Given the description of an element on the screen output the (x, y) to click on. 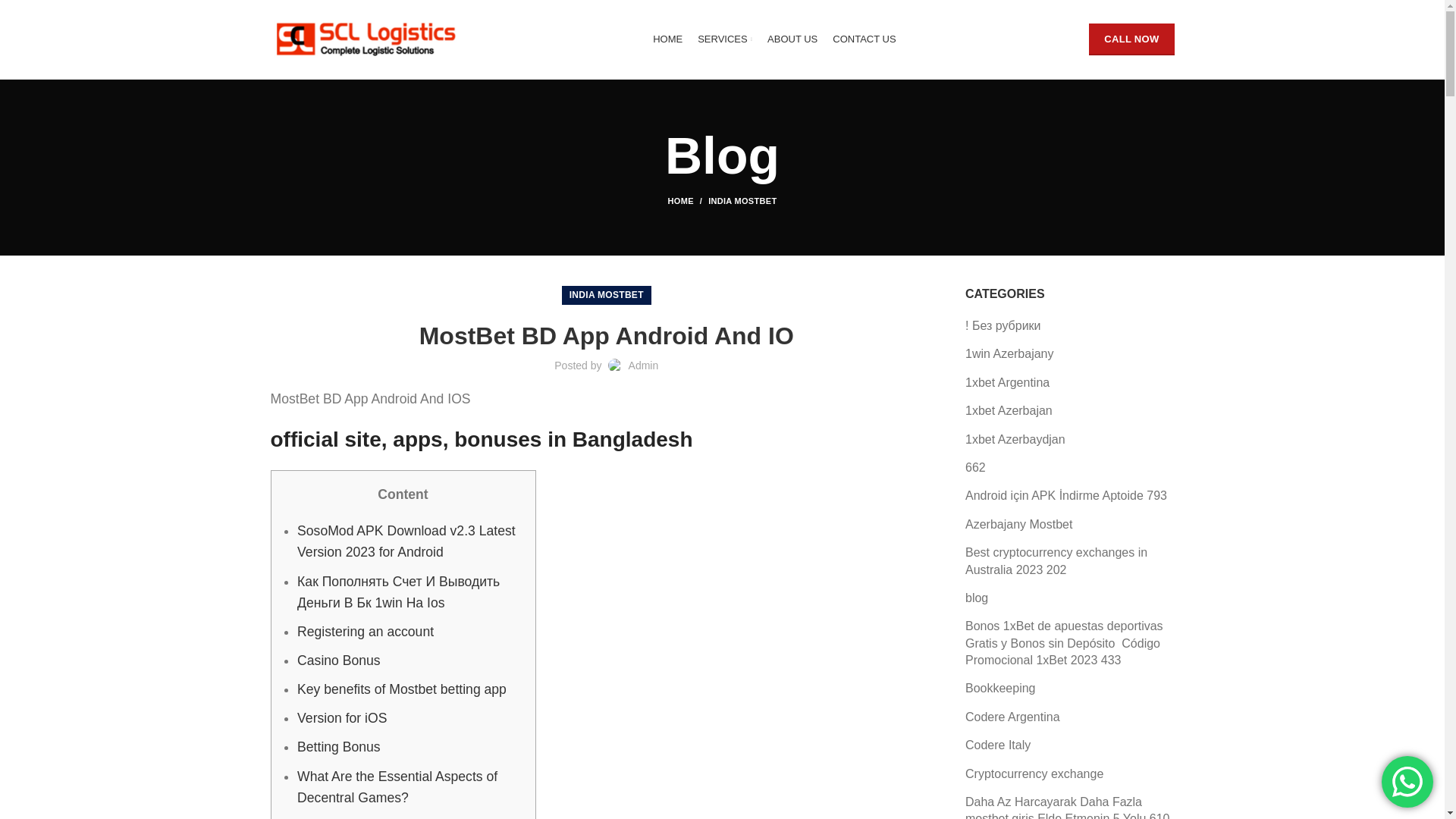
ABOUT US (792, 39)
HOME (688, 200)
CALL NOW (1131, 39)
Admin (643, 365)
CONTACT US (863, 39)
WhatsApp us (1406, 781)
SERVICES (725, 39)
Casino Bonus (338, 660)
INDIA MOSTBET (741, 200)
Key benefits of Mostbet betting app (401, 688)
INDIA MOSTBET (606, 294)
SosoMod APK Download v2.3 Latest Version 2023 for Android (406, 541)
HOME (667, 39)
Registering an account (365, 631)
